Given the description of an element on the screen output the (x, y) to click on. 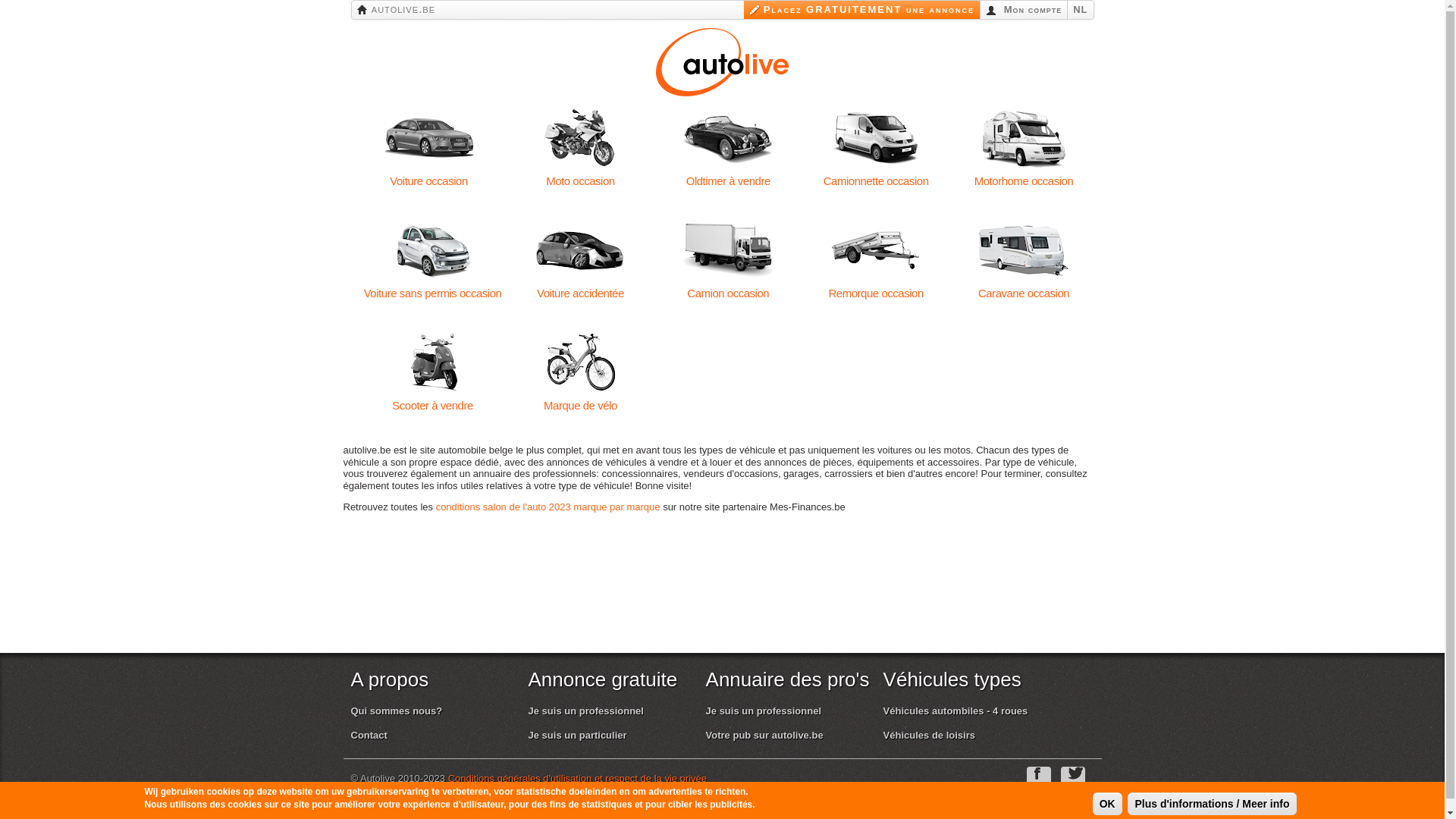
Voiture occasion Element type: text (428, 137)
Voiture sans permis occasion Element type: text (432, 249)
OK Element type: text (1107, 803)
Mon compte Element type: text (1022, 9)
NL Element type: text (1079, 9)
autolive.be Element type: text (396, 8)
Caravane occasion Element type: text (1023, 249)
Qui sommes nous? Element type: text (396, 710)
Je suis un particulier Element type: text (577, 734)
Remorque occasion Element type: text (876, 249)
Advertisement Element type: hover (729, 601)
Camion occasion Element type: text (728, 249)
Les pages facebook d'autolive.be Element type: hover (1038, 779)
Je suis un professionnel Element type: text (763, 710)
Aller au contenu principal Element type: text (703, 1)
Motorhome occasion Element type: text (1023, 137)
Placez GRATUITEMENT une annonce Element type: text (861, 9)
conditions salon de l'auto 2023 marque par marque Element type: text (548, 506)
Je suis un professionnel Element type: text (585, 710)
Plus d'informations / Meer info Element type: text (1211, 803)
Autolive main page Element type: hover (721, 59)
Camionnette occasion Element type: text (876, 137)
Moto occasion Element type: text (580, 137)
Votre pub sur autolive.be Element type: text (764, 734)
Contact Element type: text (368, 734)
